Given the description of an element on the screen output the (x, y) to click on. 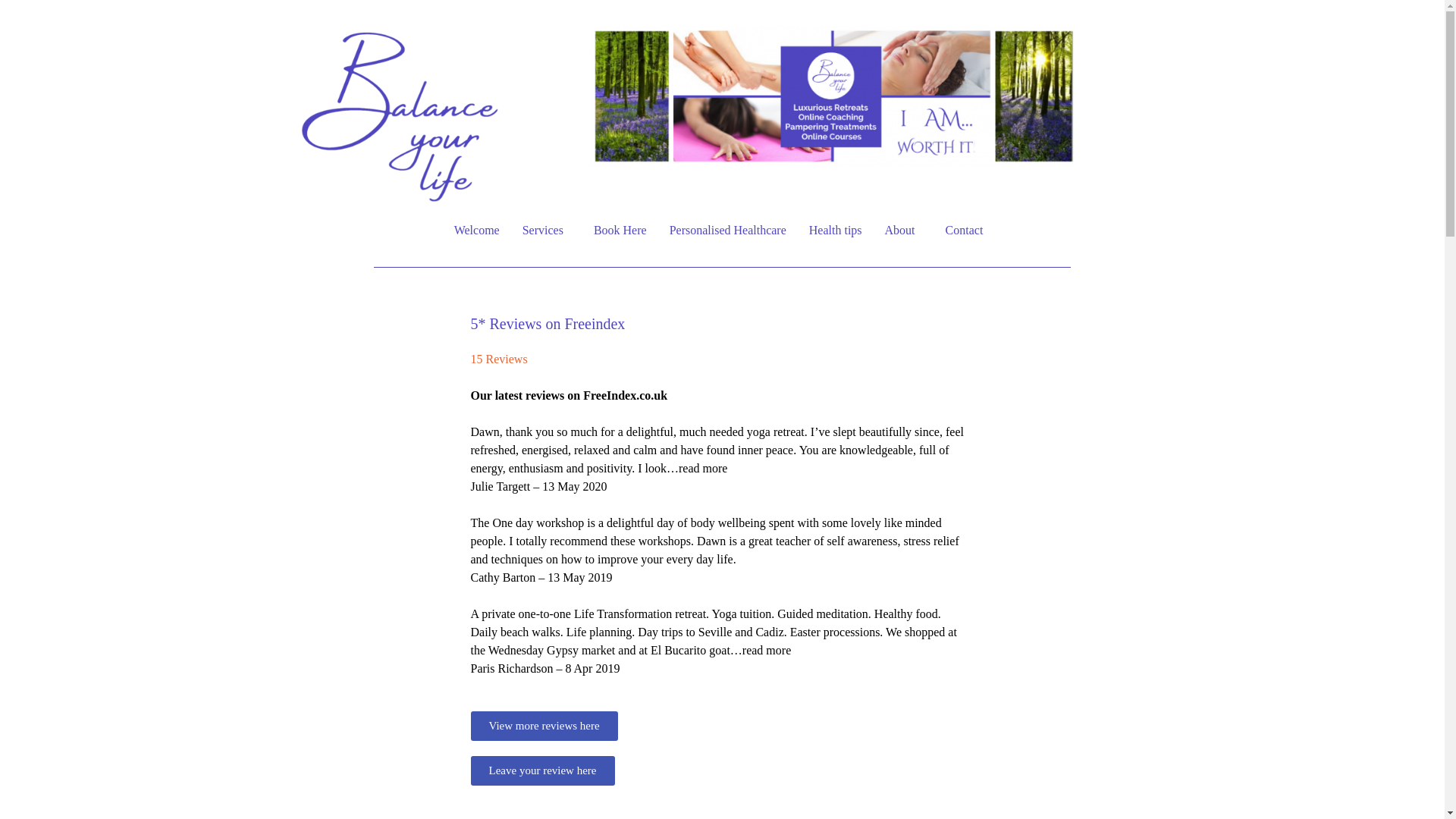
Review written by Cathy Barton (719, 505)
Contact (968, 230)
15 Reviews (498, 358)
Welcome (476, 230)
Book Here (620, 230)
About (903, 230)
Review written by Paris Richardson (719, 596)
Personalised Healthcare (727, 230)
Average rating of 5.0 based on 15 reviews (719, 377)
Health tips (835, 230)
